Given the description of an element on the screen output the (x, y) to click on. 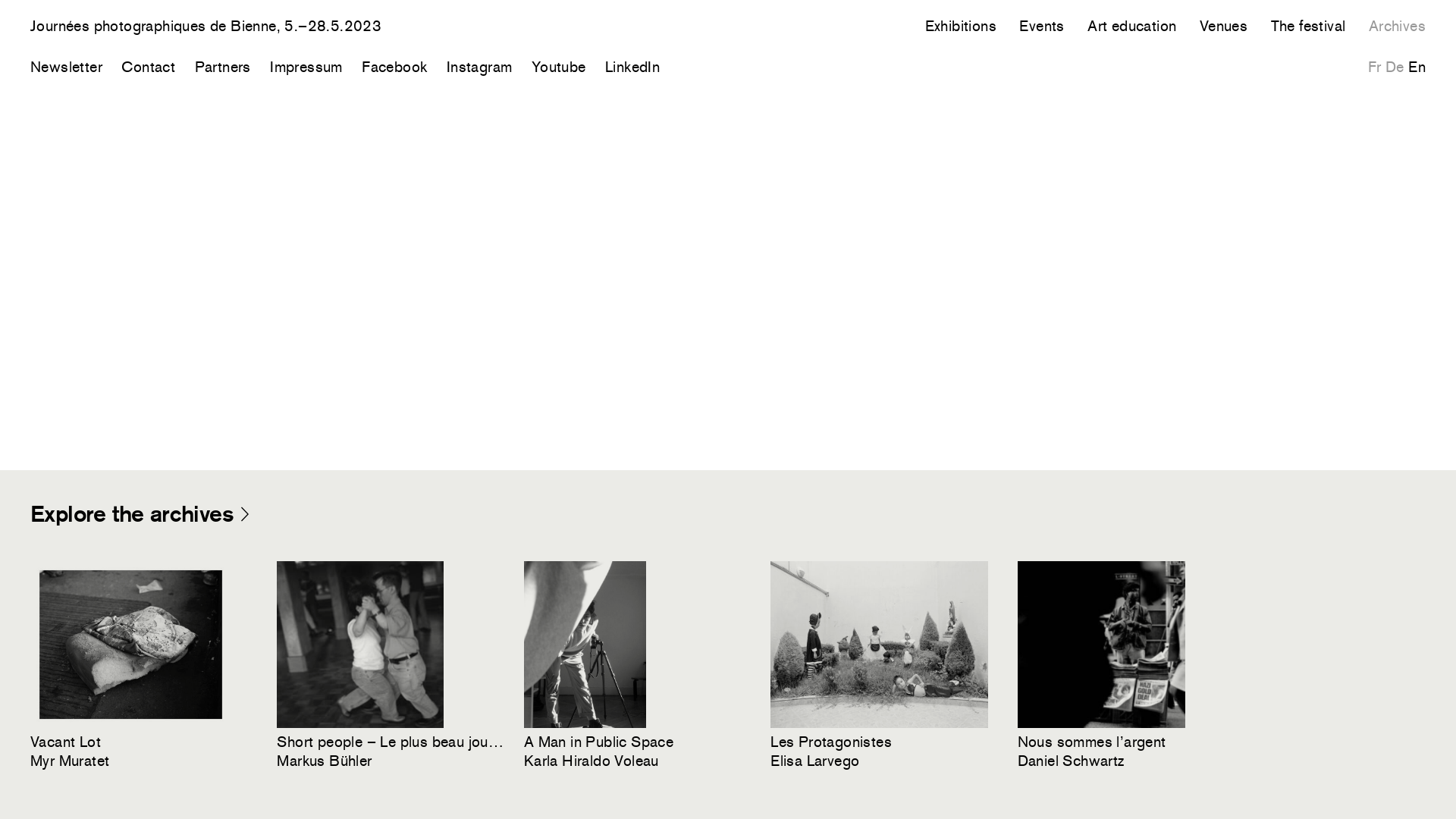
Venues Element type: text (1223, 25)
LinkedIn Element type: text (632, 66)
Archives Element type: text (1396, 25)
Exhibitions Element type: text (960, 25)
Partners Element type: text (222, 66)
Impressum Element type: text (305, 66)
Fr Element type: text (1374, 66)
The festival Element type: text (1308, 25)
Facebook Element type: text (393, 66)
Explore the archives Element type: text (140, 513)
Les Protagonistes
Elisa Larvego Element type: text (883, 667)
Vacant Lot
Myr Muratet Element type: text (143, 667)
En Element type: text (1416, 66)
Newsletter Element type: text (66, 66)
A Man in Public Space
Karla Hiraldo Voleau Element type: text (637, 667)
Instagram Element type: text (479, 66)
De Element type: text (1394, 66)
Youtube Element type: text (558, 66)
Events Element type: text (1041, 25)
Art education Element type: text (1131, 25)
Contact Element type: text (148, 66)
